Given the description of an element on the screen output the (x, y) to click on. 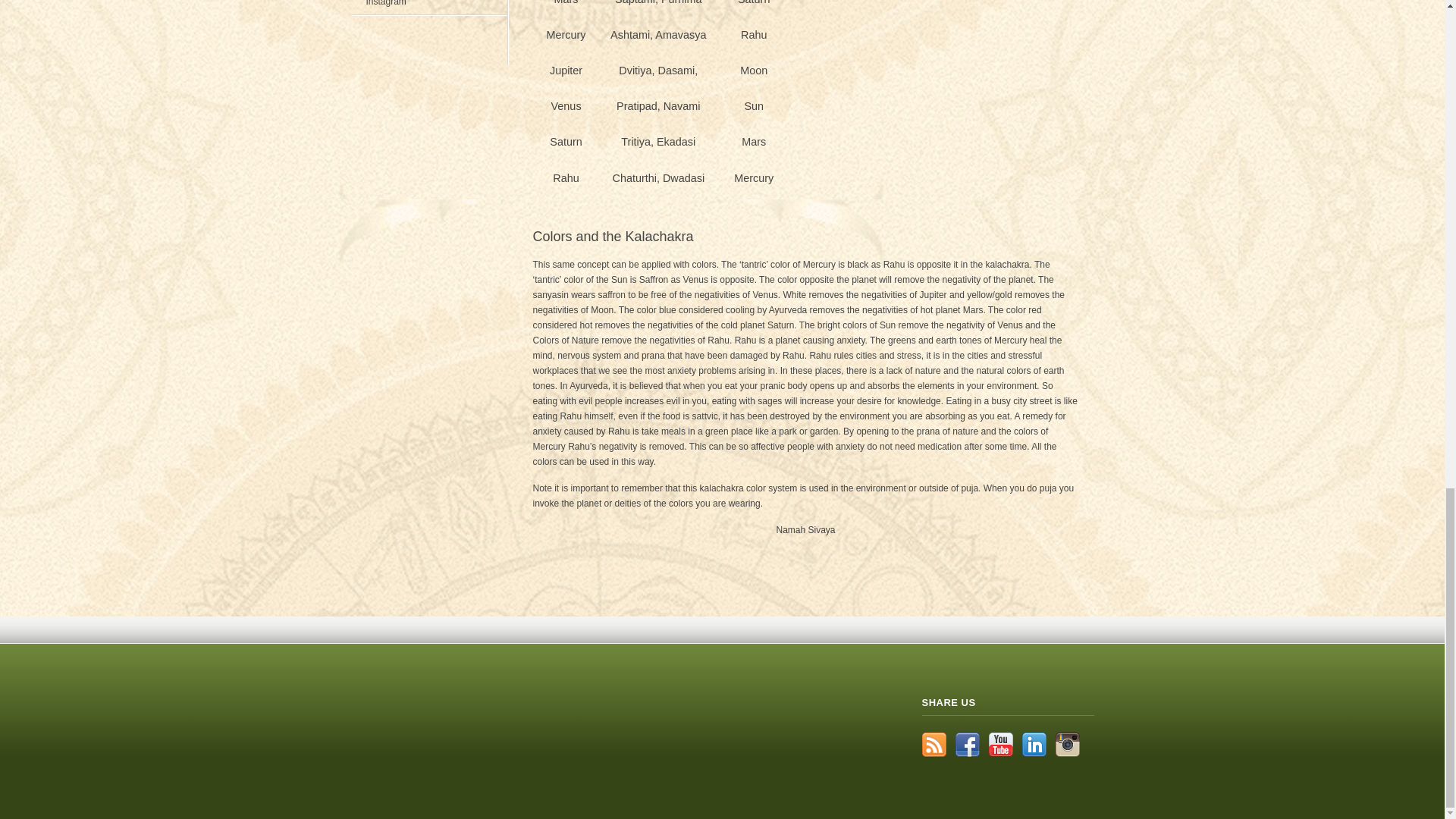
LinkedIn (1034, 744)
Instagram (1067, 744)
RSS Feed (933, 744)
YouTube (1000, 744)
Facebook (967, 744)
